Given the description of an element on the screen output the (x, y) to click on. 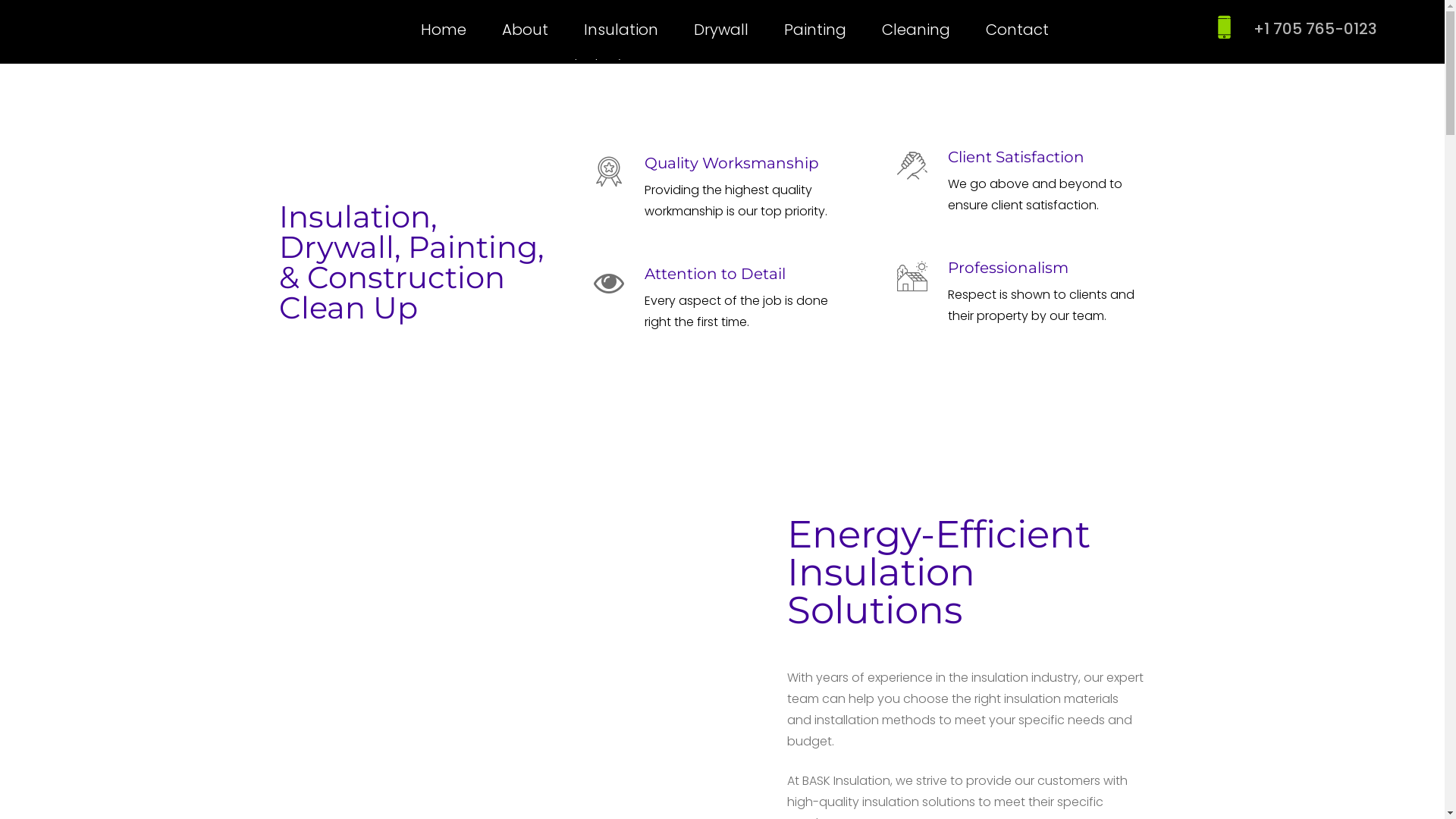
Insulation Element type: text (620, 29)
Cleaning Element type: text (915, 29)
Drywall Element type: text (720, 29)
Home Element type: text (443, 29)
About Element type: text (525, 29)
Painting Element type: text (815, 29)
+1 705 765-0123 Element type: text (1315, 28)
Contact Element type: text (1016, 29)
